Given the description of an element on the screen output the (x, y) to click on. 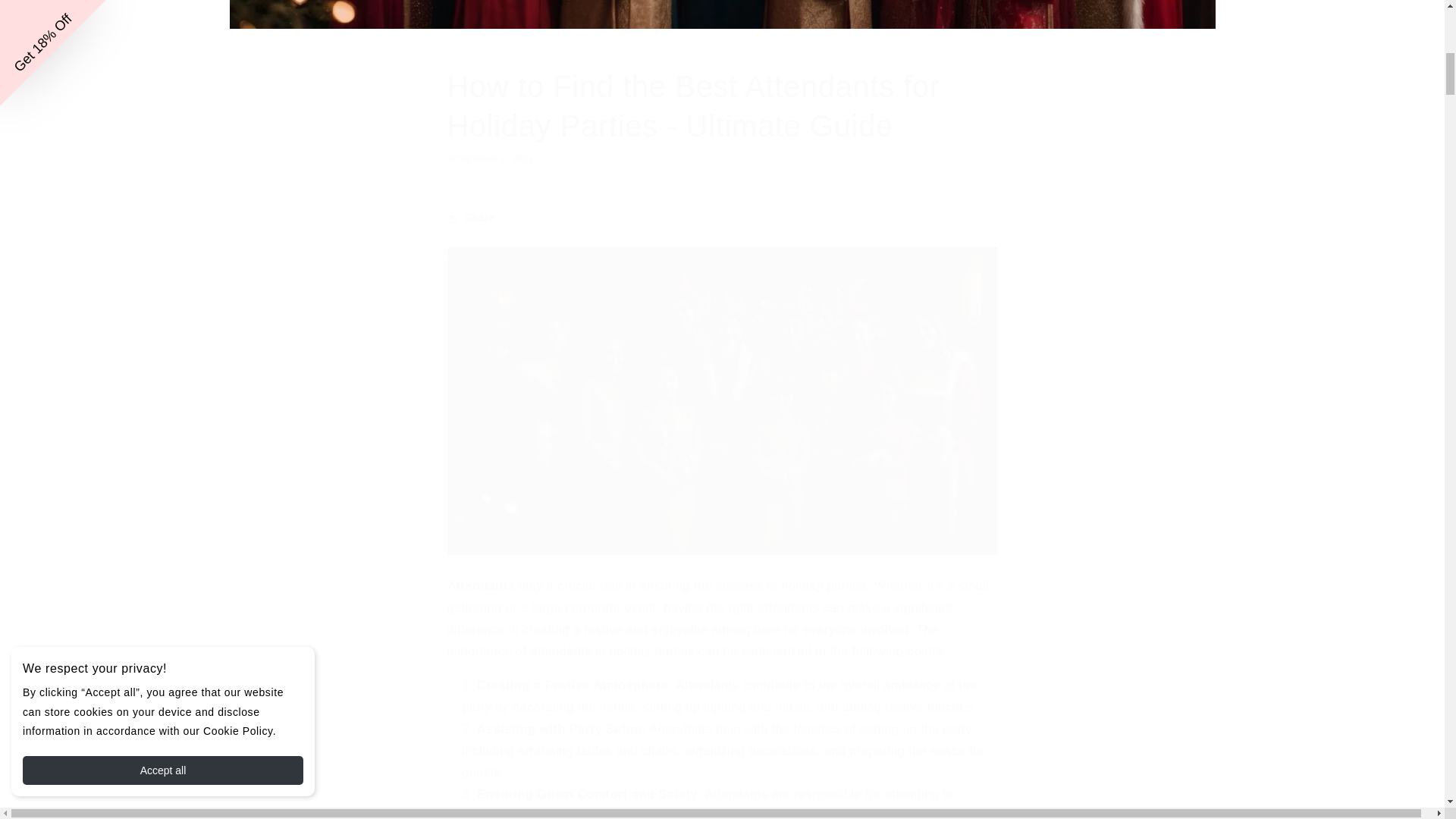
Share (721, 218)
